Given the description of an element on the screen output the (x, y) to click on. 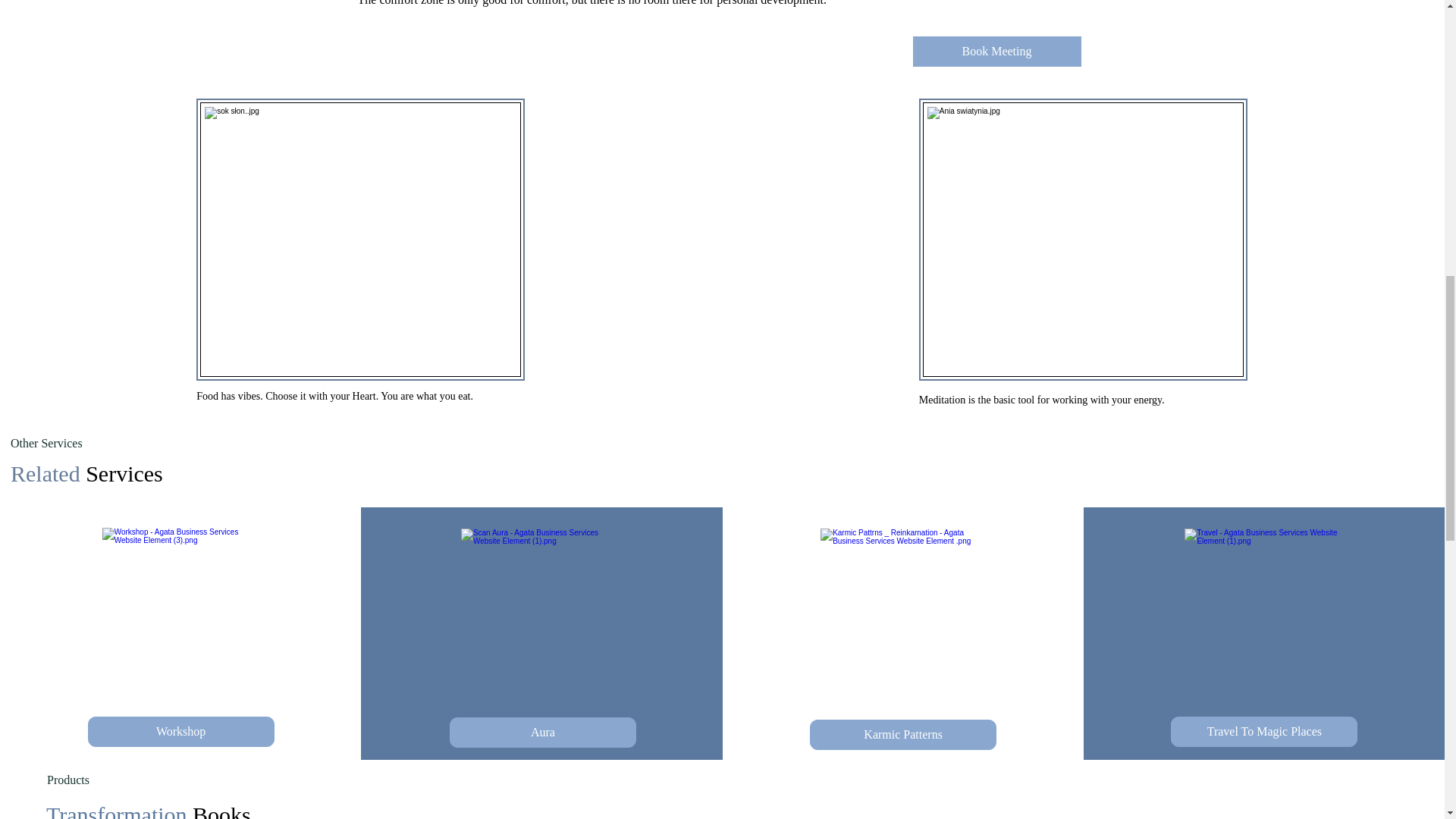
Aura (542, 732)
Travel To Magic Places (1263, 731)
Karmic Patterns (902, 734)
Workshop (181, 731)
Book Meeting (996, 51)
